Given the description of an element on the screen output the (x, y) to click on. 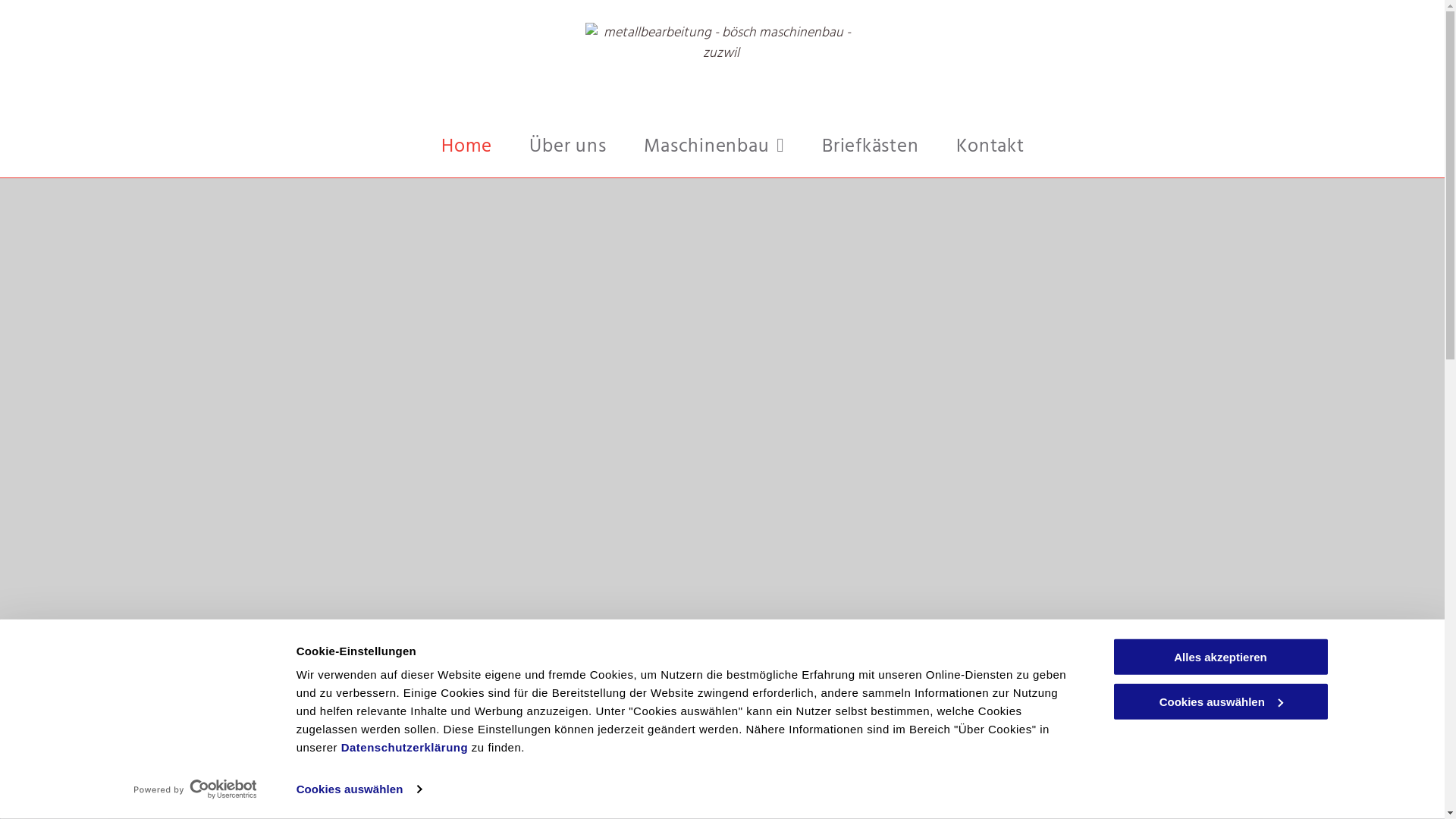
Alles akzeptieren Element type: text (1219, 656)
Home Element type: text (466, 147)
Maschinenbau Element type: text (713, 147)
Kontakt Element type: text (989, 147)
